Given the description of an element on the screen output the (x, y) to click on. 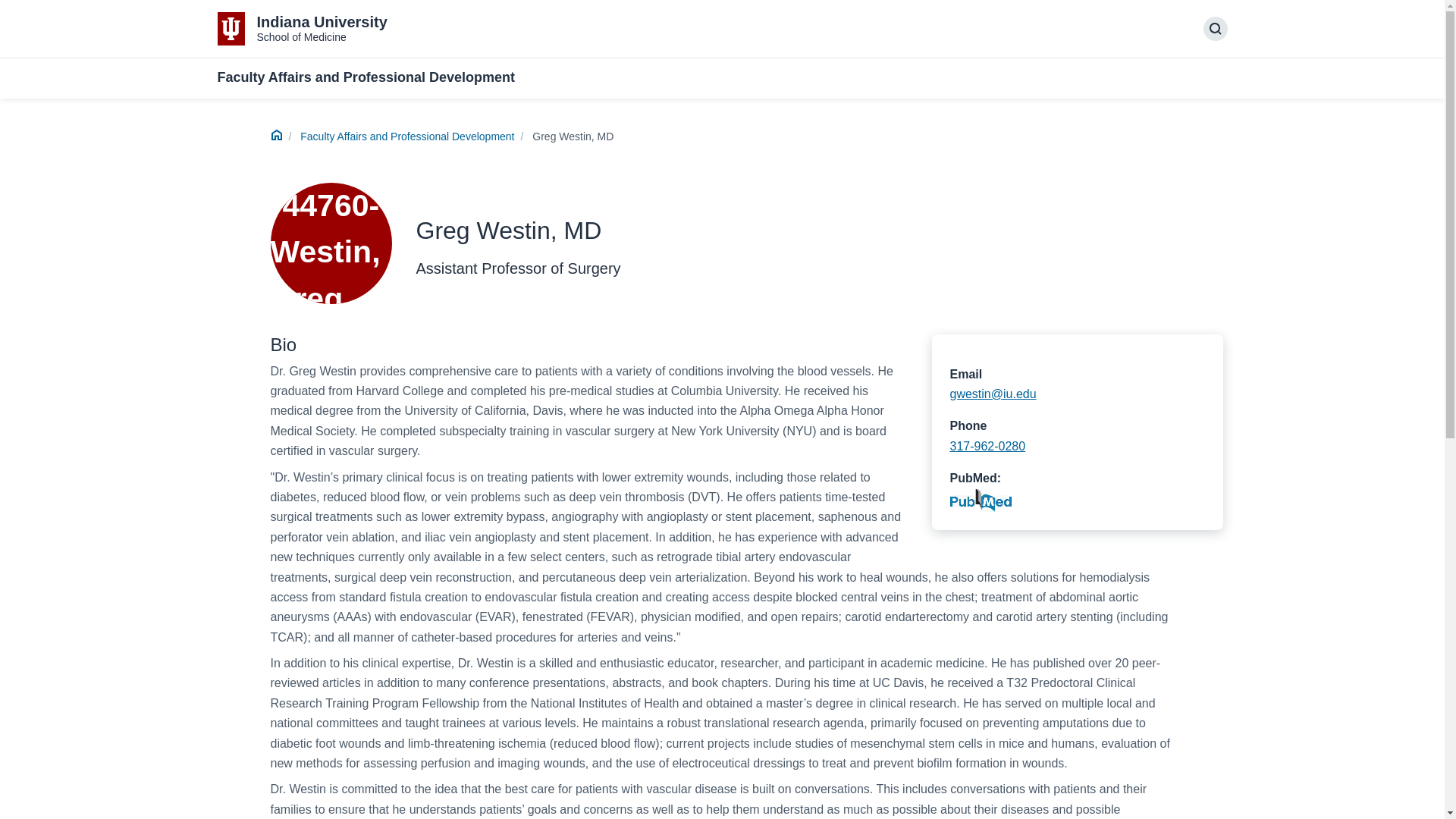
Home (275, 137)
Faculty Affairs and Professional Development (406, 136)
Toggle Search Box (301, 28)
317-962-0280 (1214, 28)
